Given the description of an element on the screen output the (x, y) to click on. 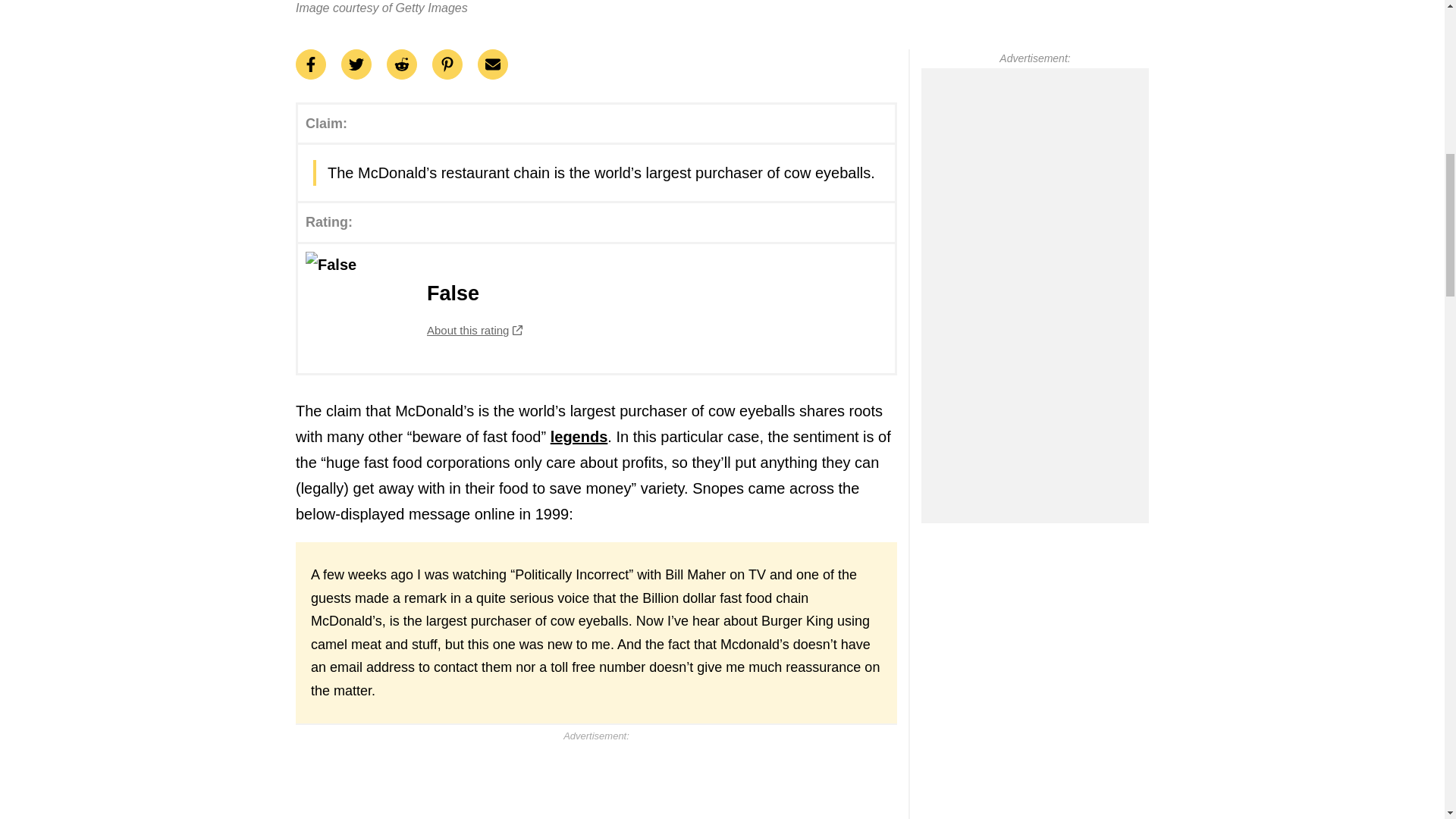
legends (579, 436)
